Given the description of an element on the screen output the (x, y) to click on. 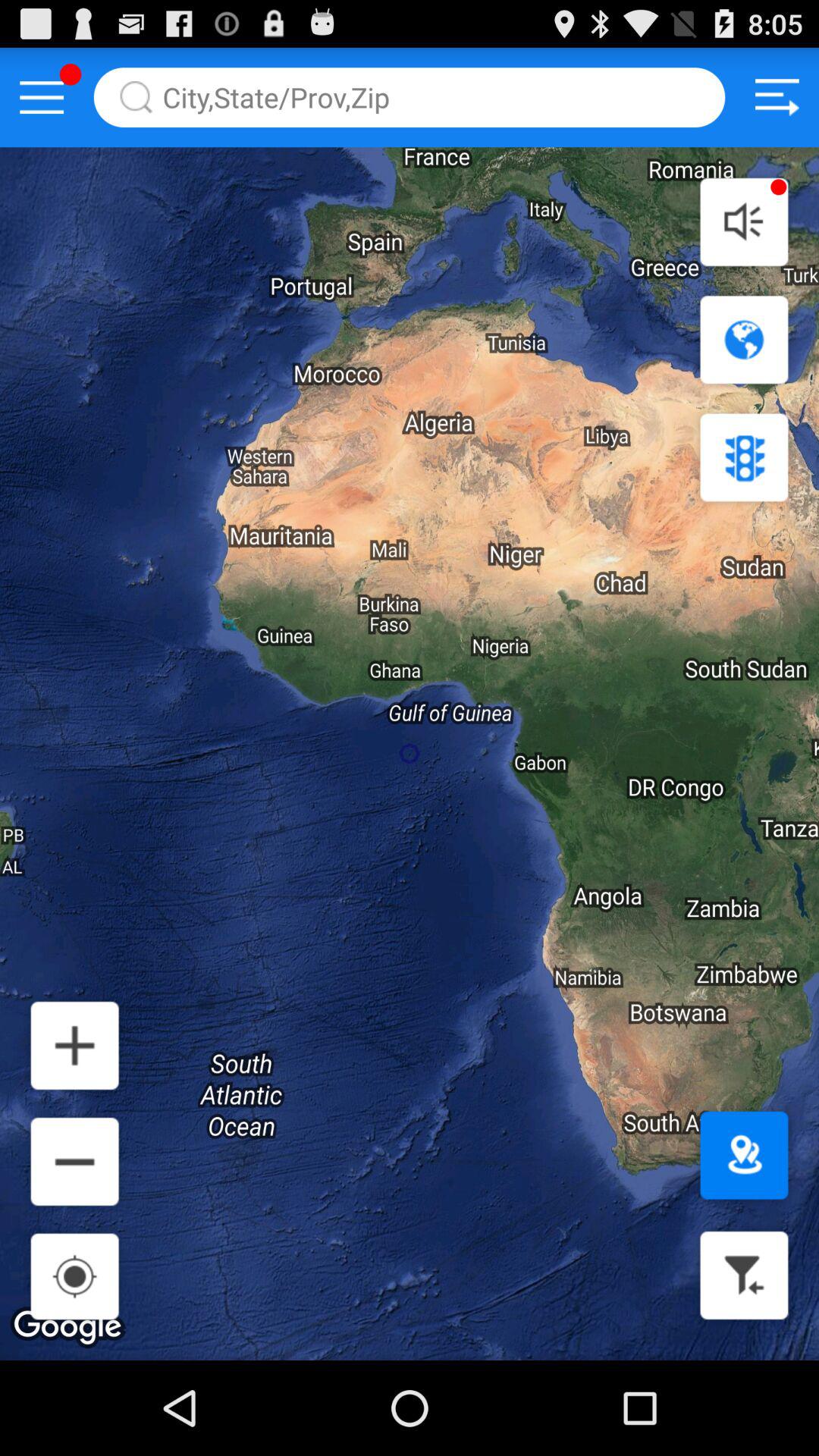
zoom (74, 1161)
